Given the description of an element on the screen output the (x, y) to click on. 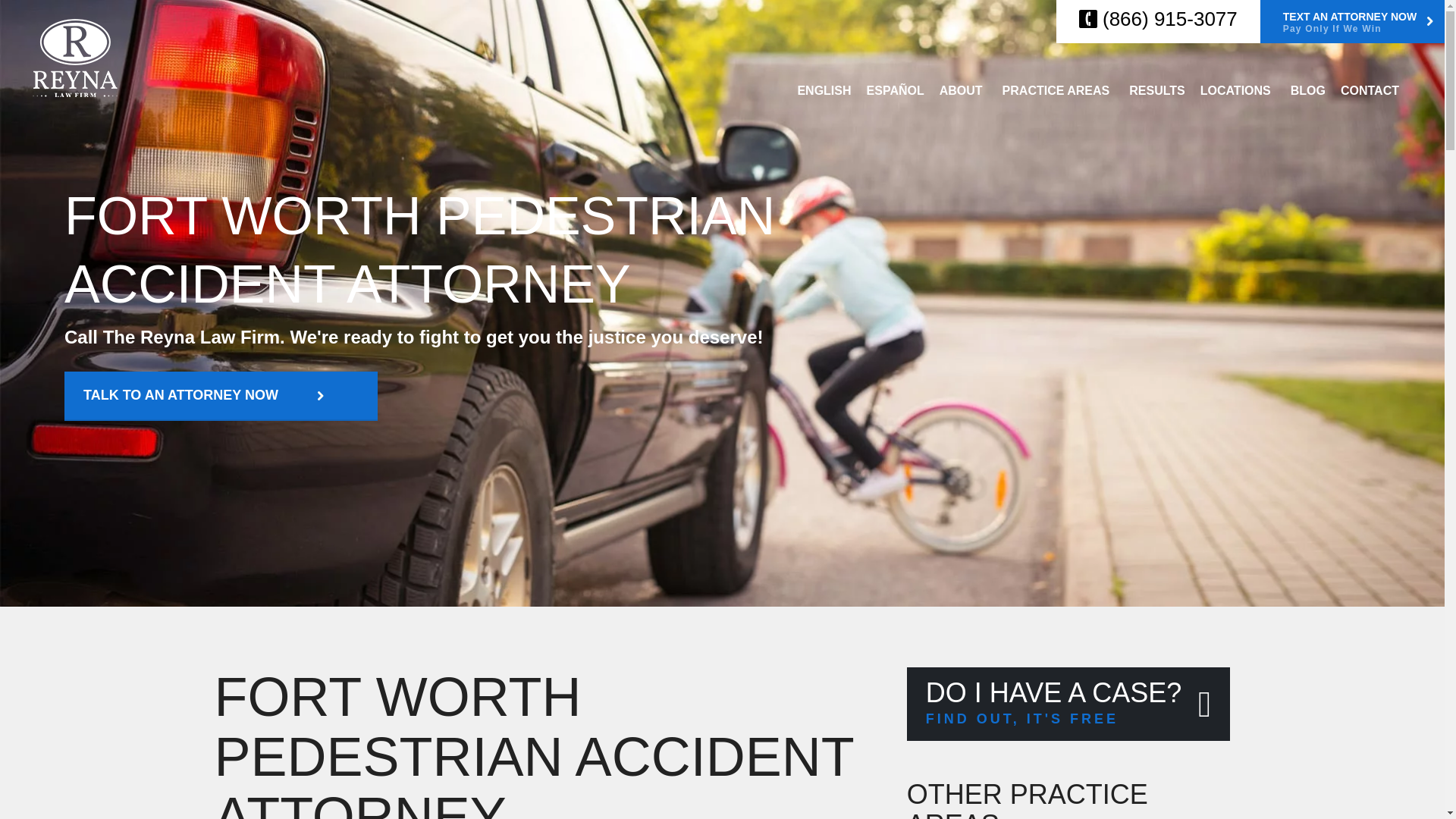
ENGLISH (824, 91)
ABOUT (962, 91)
PRACTICE AREAS (1058, 91)
English (824, 91)
